Given the description of an element on the screen output the (x, y) to click on. 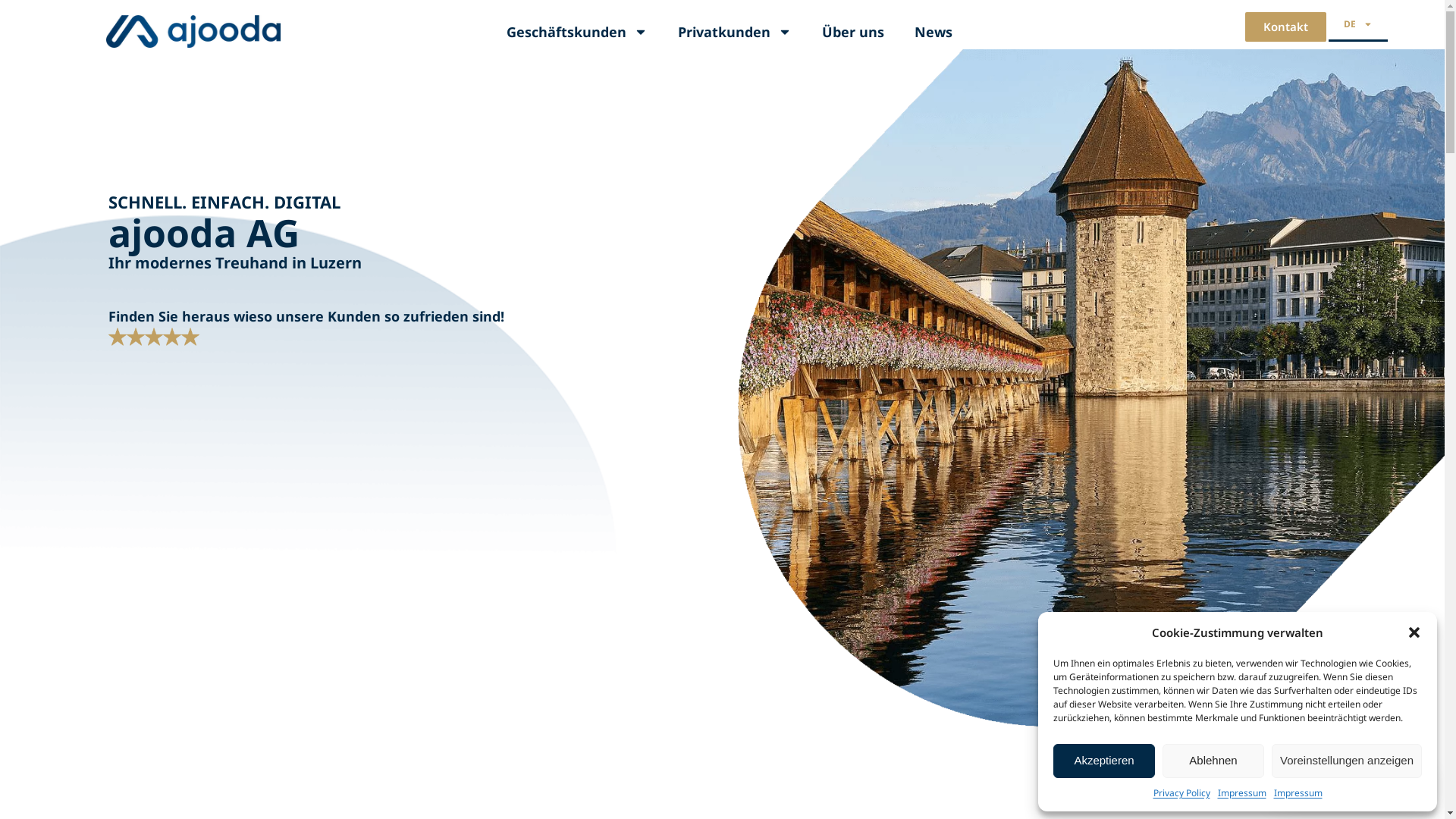
Kontakt Element type: text (1285, 26)
Ablehnen Element type: text (1213, 760)
DE Element type: text (1357, 23)
WhatsApp Chat Element type: text (1349, 785)
News Element type: text (933, 31)
Privacy Policy Element type: text (1180, 792)
Privatkunden Element type: text (734, 31)
Impressum Element type: text (1241, 792)
Finden Sie heraus wieso unsere Kunden so zufrieden sind! Element type: text (306, 316)
Akzeptieren Element type: text (1103, 760)
Voreinstellungen anzeigen Element type: text (1346, 760)
Impressum Element type: text (1298, 792)
